Given the description of an element on the screen output the (x, y) to click on. 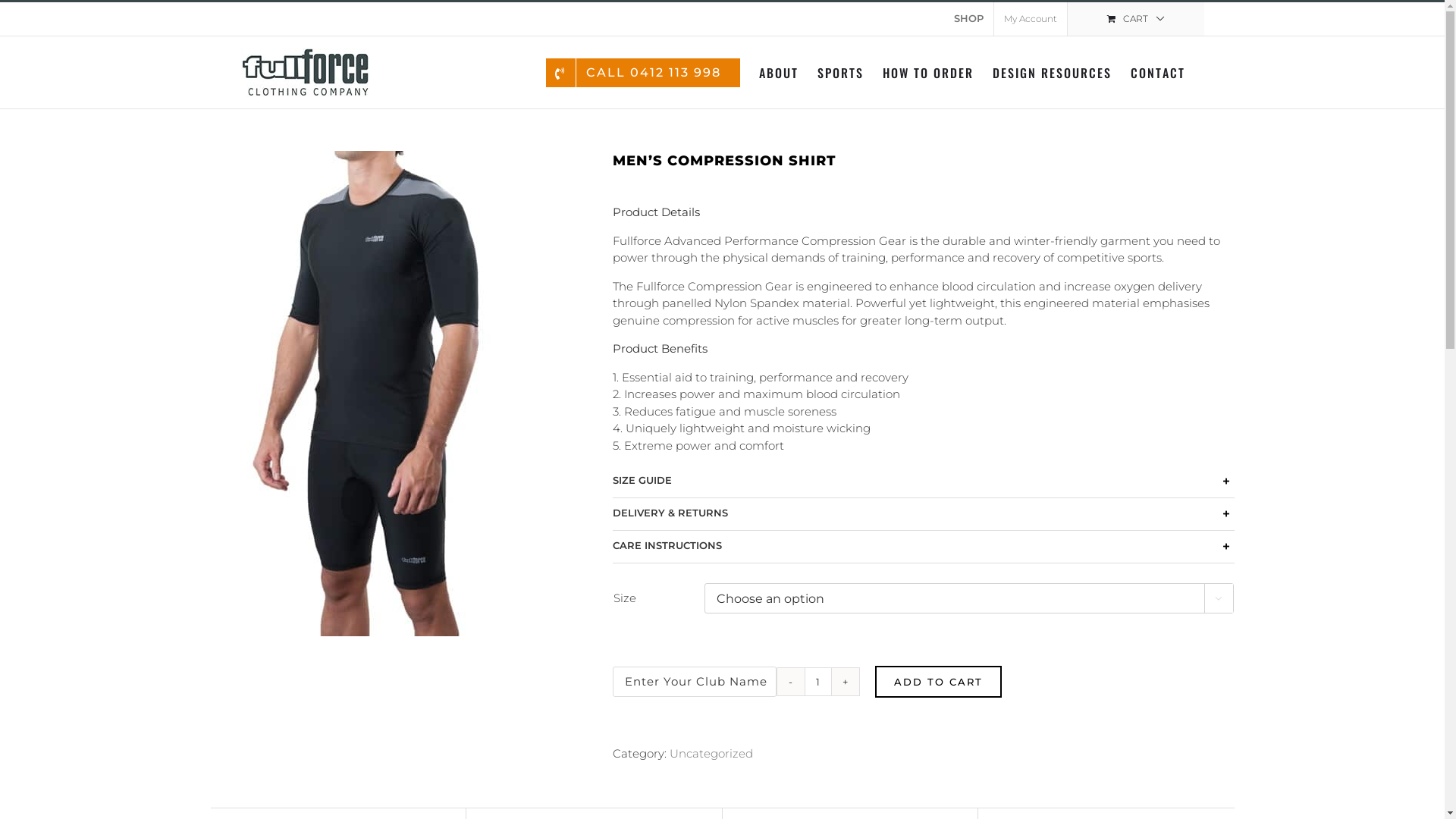
ABOUT Element type: text (777, 72)
ADD TO CART Element type: text (938, 681)
DESIGN RESOURCES Element type: text (1050, 72)
My Account Element type: text (1029, 18)
CARE INSTRUCTIONS Element type: text (923, 546)
CART Element type: text (1135, 18)
HOW TO ORDER Element type: text (927, 72)
Log In Element type: text (1075, 148)
SIZE GUIDE Element type: text (923, 481)
SHOP Element type: text (967, 18)
SPORTS Element type: text (840, 72)
CALL 0412 113 998 Element type: text (643, 72)
DELIVERY & RETURNS Element type: text (923, 514)
Uncategorized Element type: text (710, 753)
Qty Element type: hover (817, 680)
CONTACT Element type: text (1156, 72)
